Given the description of an element on the screen output the (x, y) to click on. 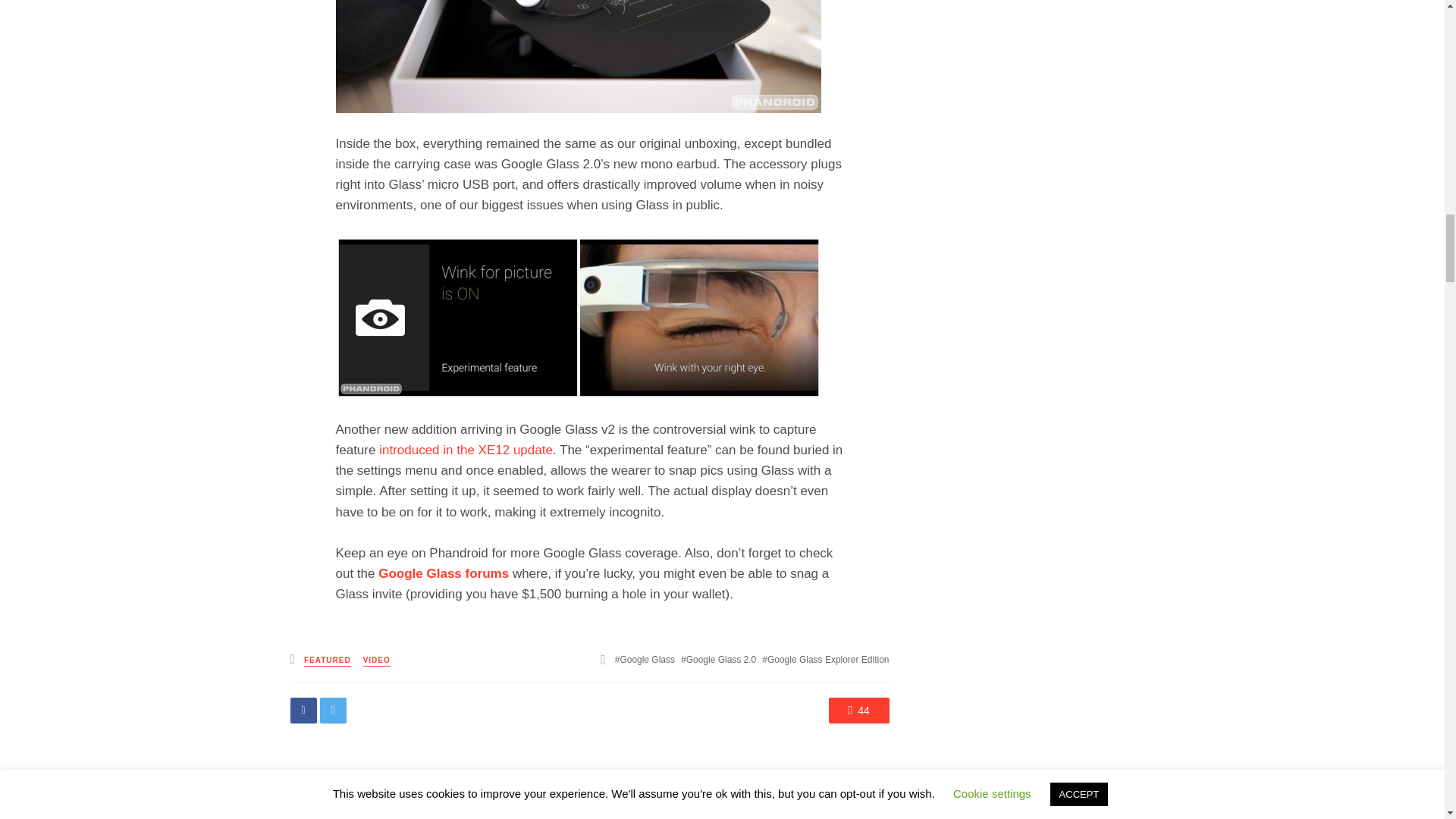
FEATURED (327, 660)
VIDEO (376, 660)
Posts by Chris Chavez (417, 803)
Google Glass forums (443, 573)
introduced in the XE12 update (465, 450)
Google Glass (644, 659)
